Given the description of an element on the screen output the (x, y) to click on. 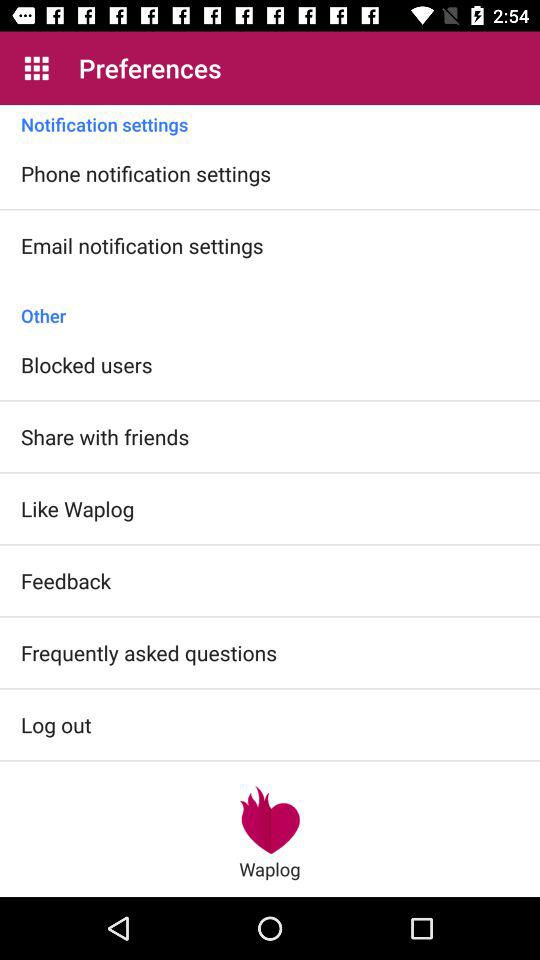
choose share with friends (105, 436)
